Given the description of an element on the screen output the (x, y) to click on. 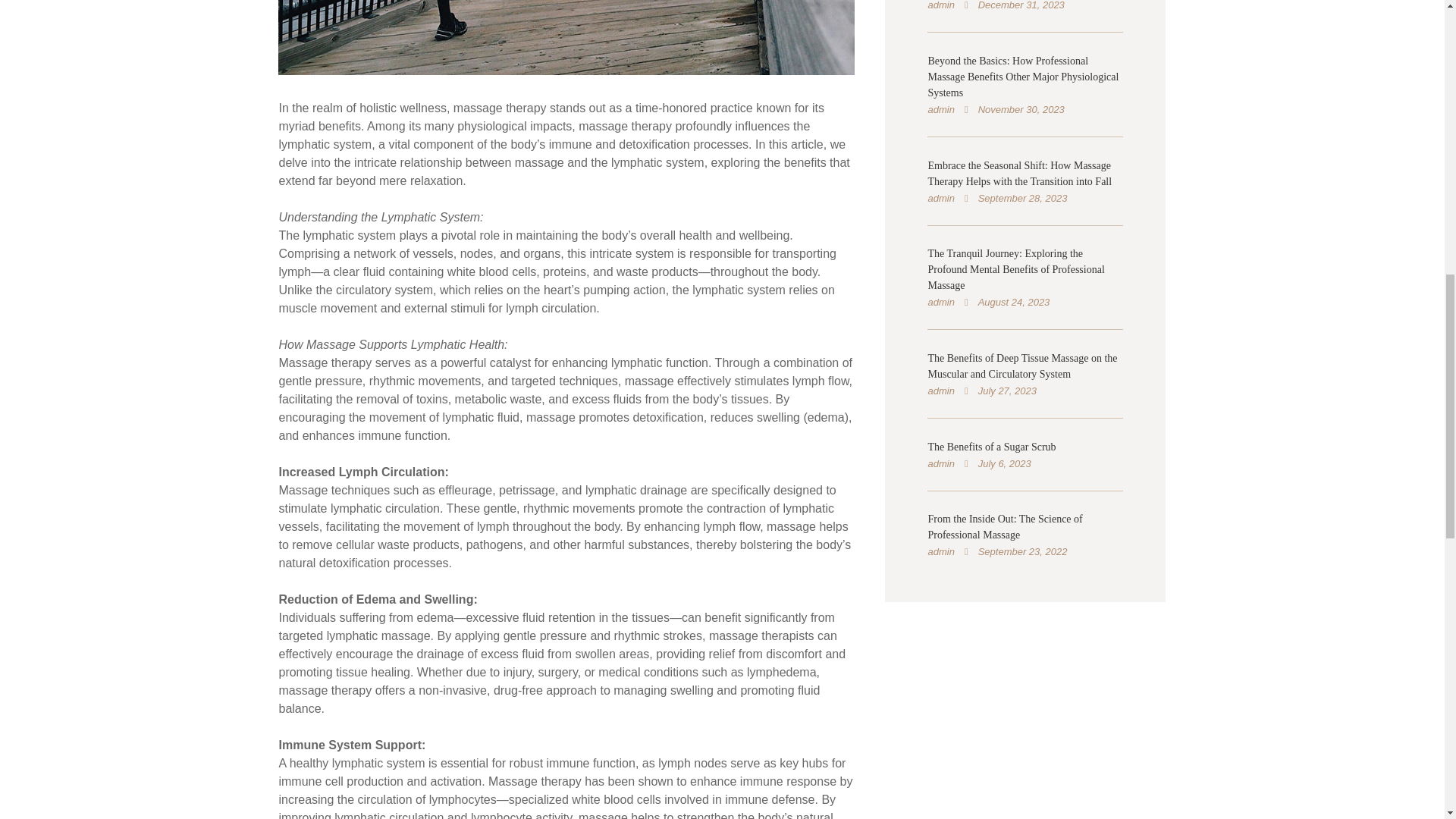
The Profound Impact of Massage on the Lymphatic System (566, 38)
